Given the description of an element on the screen output the (x, y) to click on. 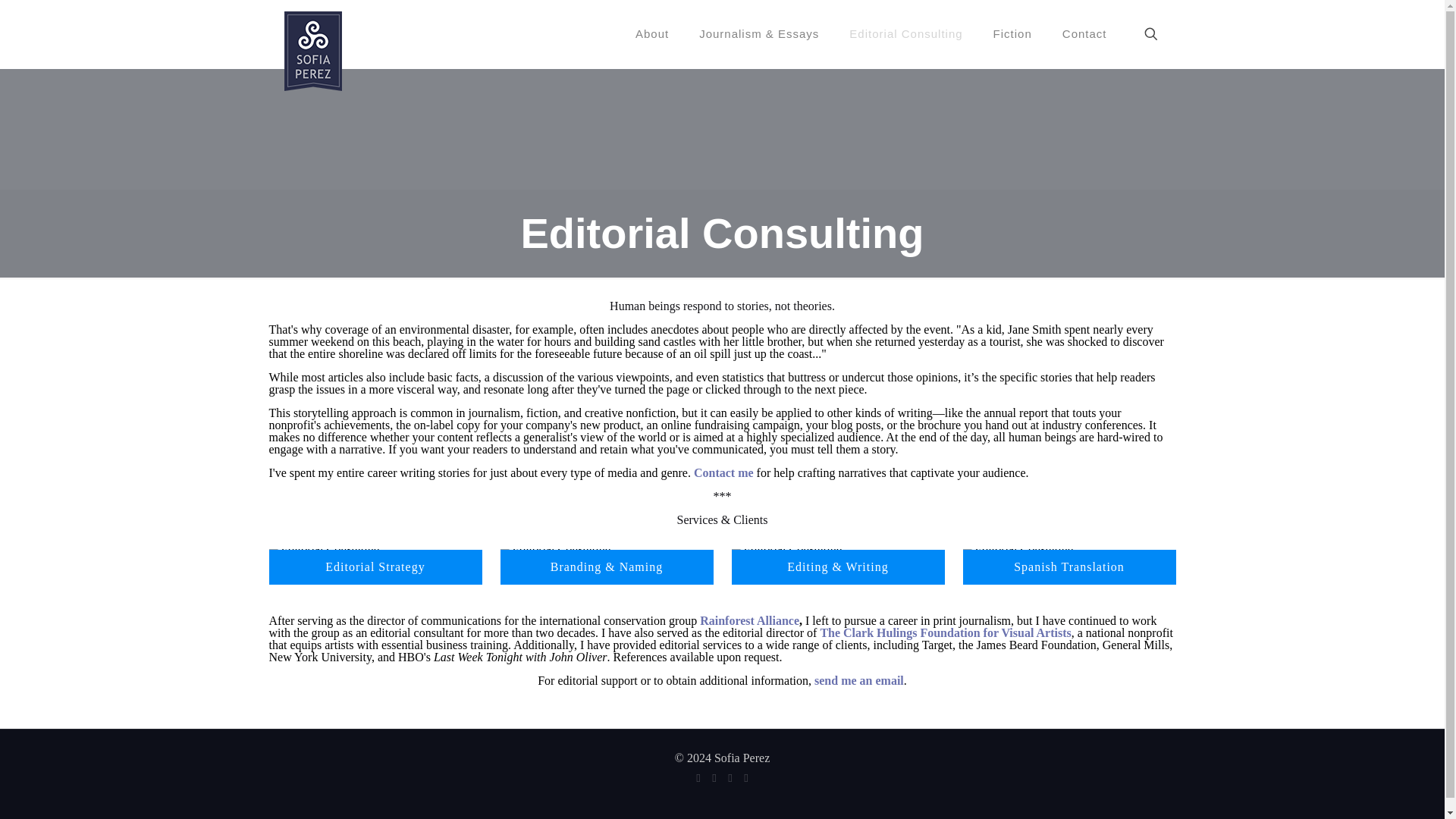
About (652, 33)
Instagram (745, 777)
Contact me (724, 472)
The Clark Hulings Foundation for Visual Artists (944, 632)
Editorial Consulting (905, 33)
Fiction (1012, 33)
Facebook (698, 777)
LinkedIn (730, 777)
Contact (1084, 33)
Rainforest Alliance (749, 620)
